Given the description of an element on the screen output the (x, y) to click on. 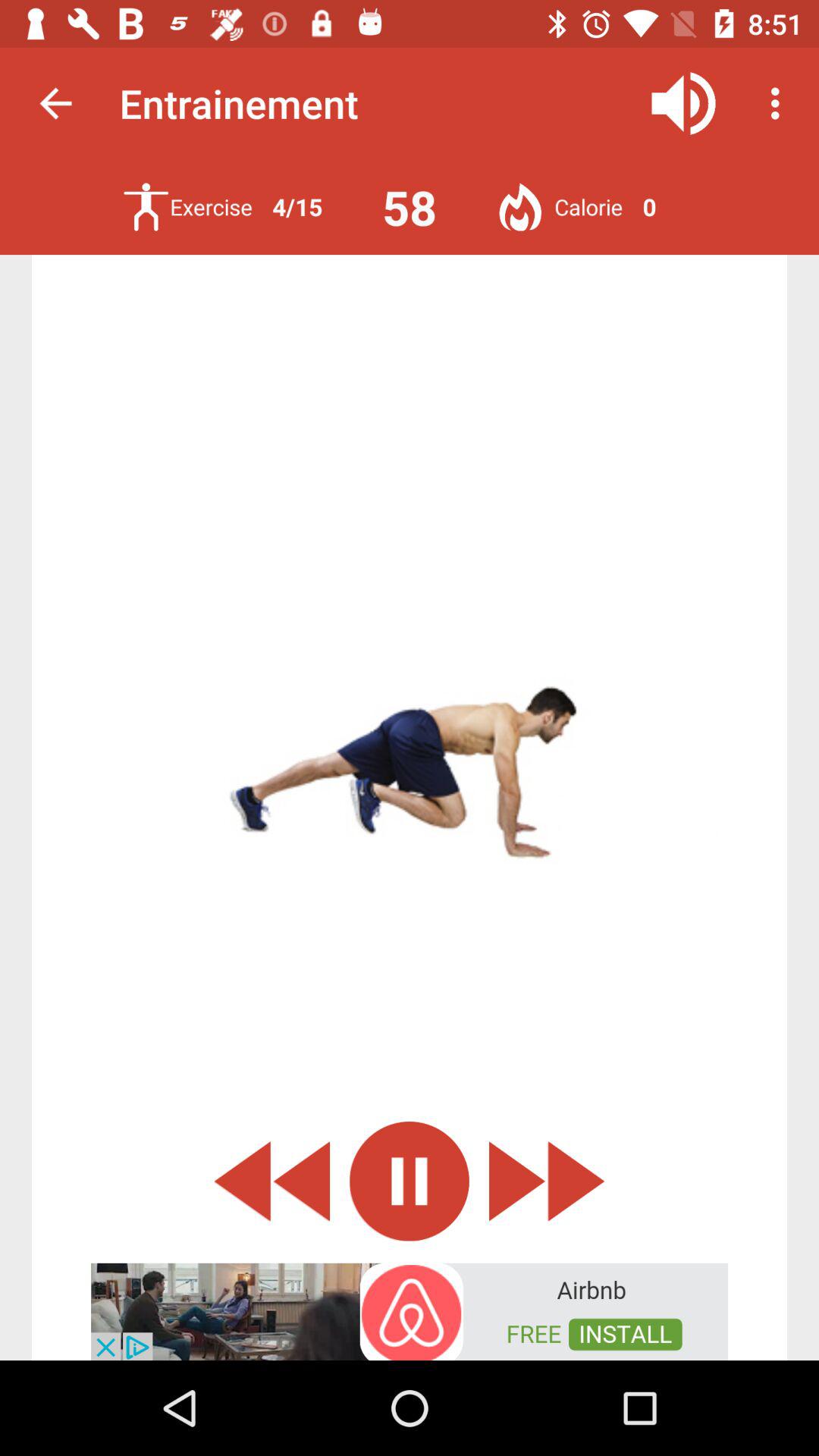
airbnb advertisement (409, 1310)
